Given the description of an element on the screen output the (x, y) to click on. 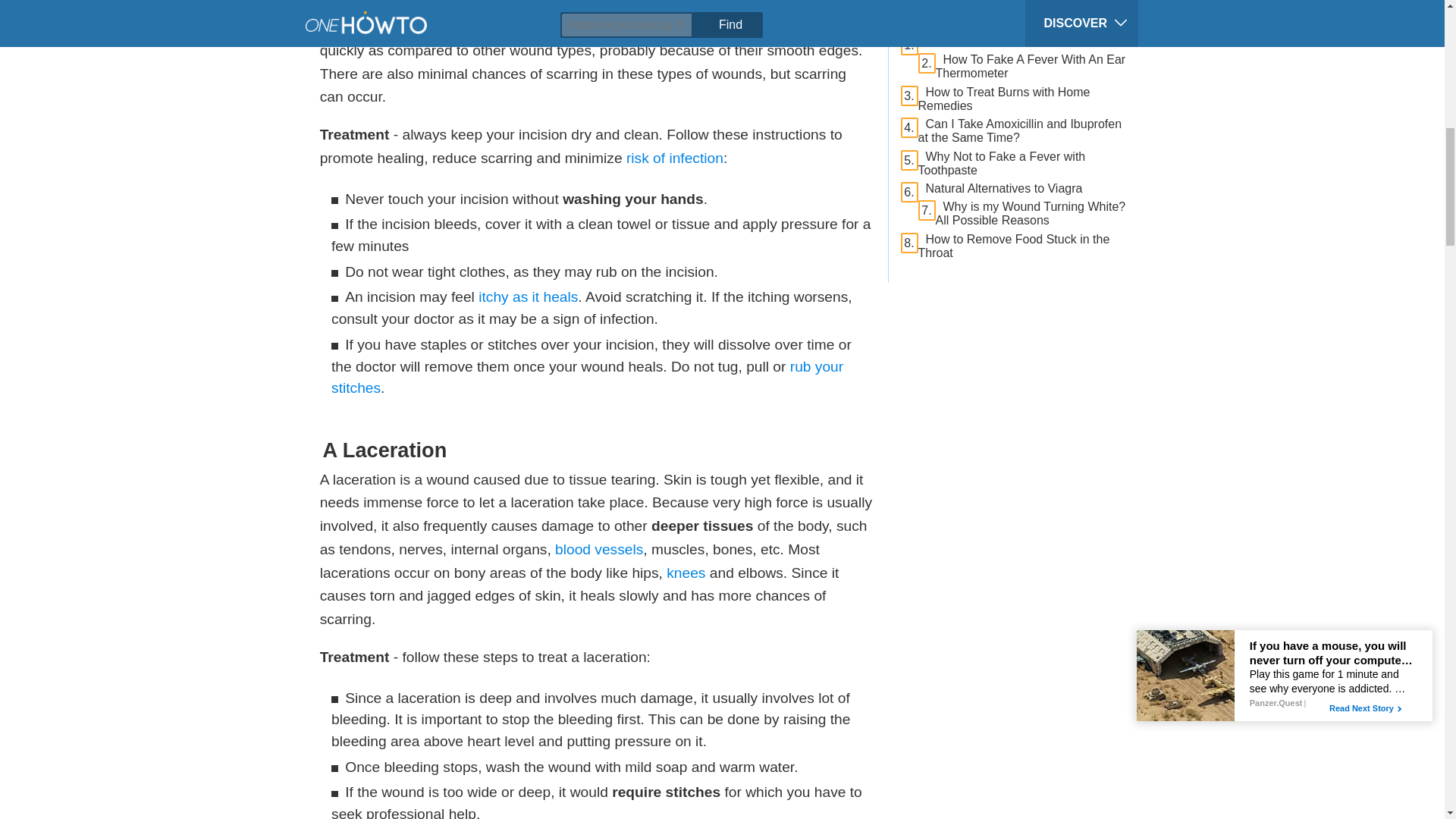
risk of infection (674, 157)
knees (685, 572)
blood vessels (598, 549)
itchy as it heals (528, 296)
